Given the description of an element on the screen output the (x, y) to click on. 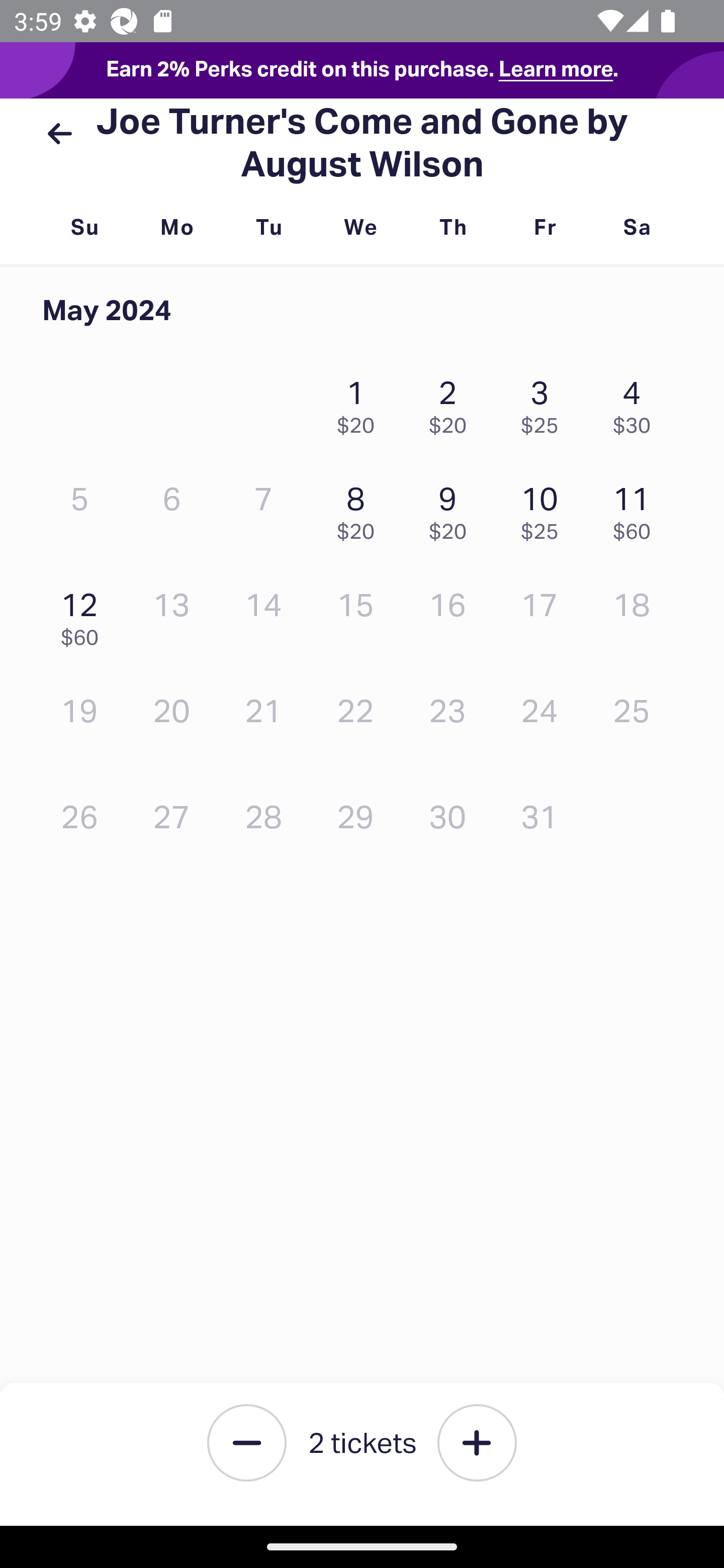
Earn 2% Perks credit on this purchase. Learn more. (362, 70)
back button (59, 133)
1 $20 (360, 401)
2 $20 (452, 401)
3 $25 (544, 401)
4 $30 (636, 401)
8 $20 (360, 508)
9 $20 (452, 508)
10 $25 (544, 508)
11 $60 (636, 508)
12 $60 (84, 613)
